Given the description of an element on the screen output the (x, y) to click on. 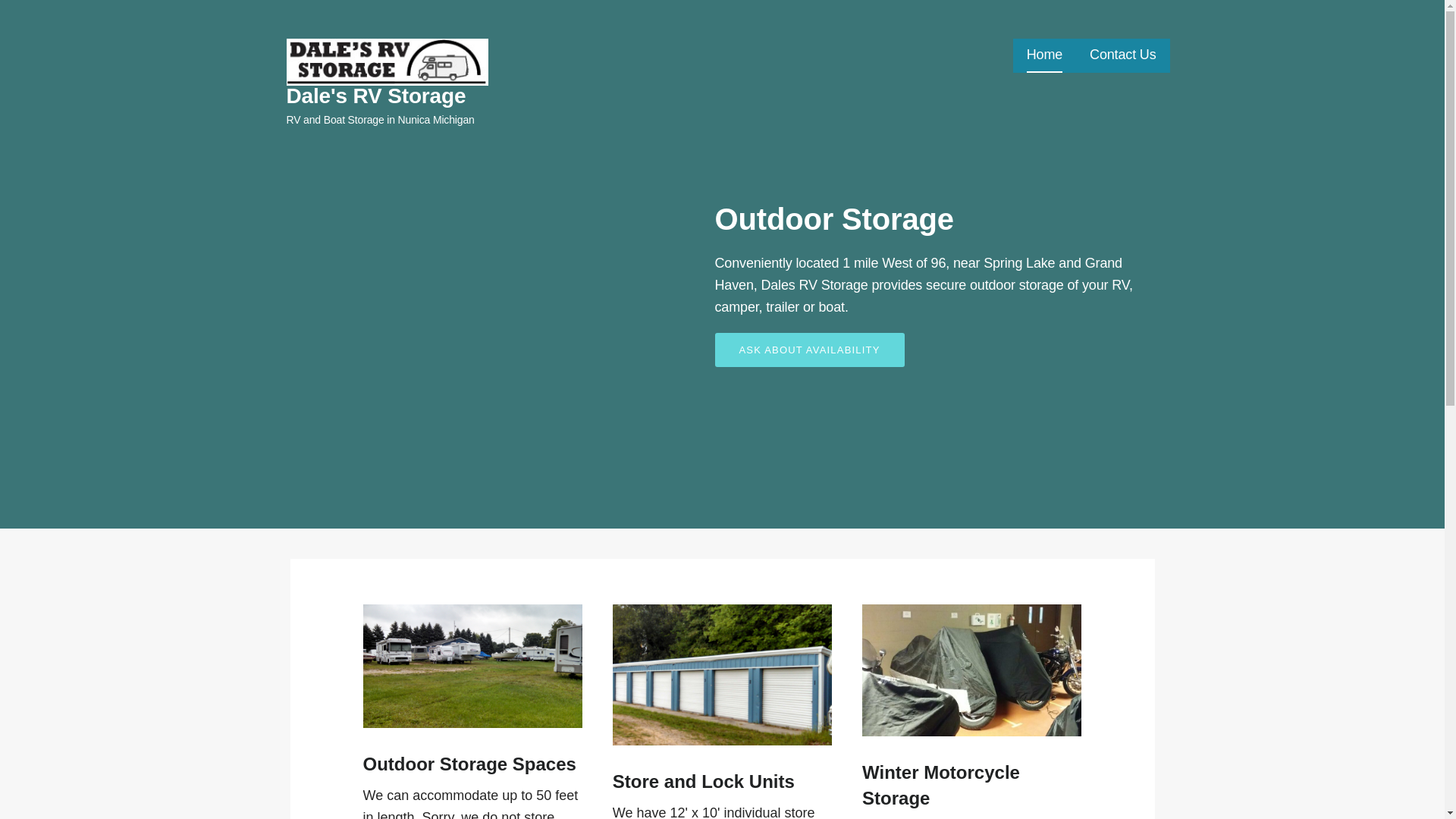
Contact Us (1122, 55)
ASK ABOUT AVAILABILITY (809, 349)
RVS1 (471, 666)
Home (1044, 55)
lockers (721, 674)
indoor-storage (971, 670)
Dale's RV Storage (375, 95)
